Given the description of an element on the screen output the (x, y) to click on. 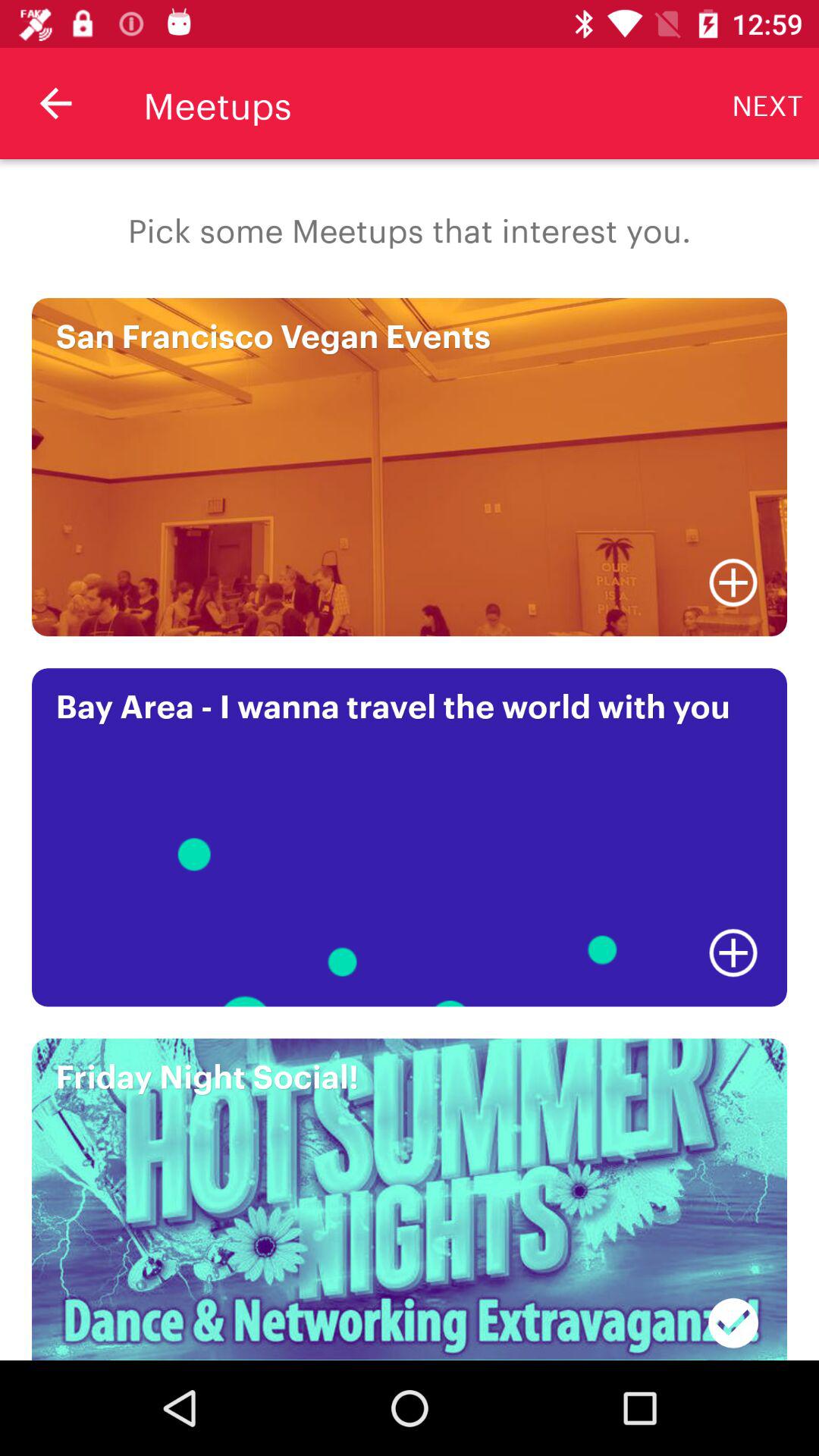
see more (733, 952)
